Given the description of an element on the screen output the (x, y) to click on. 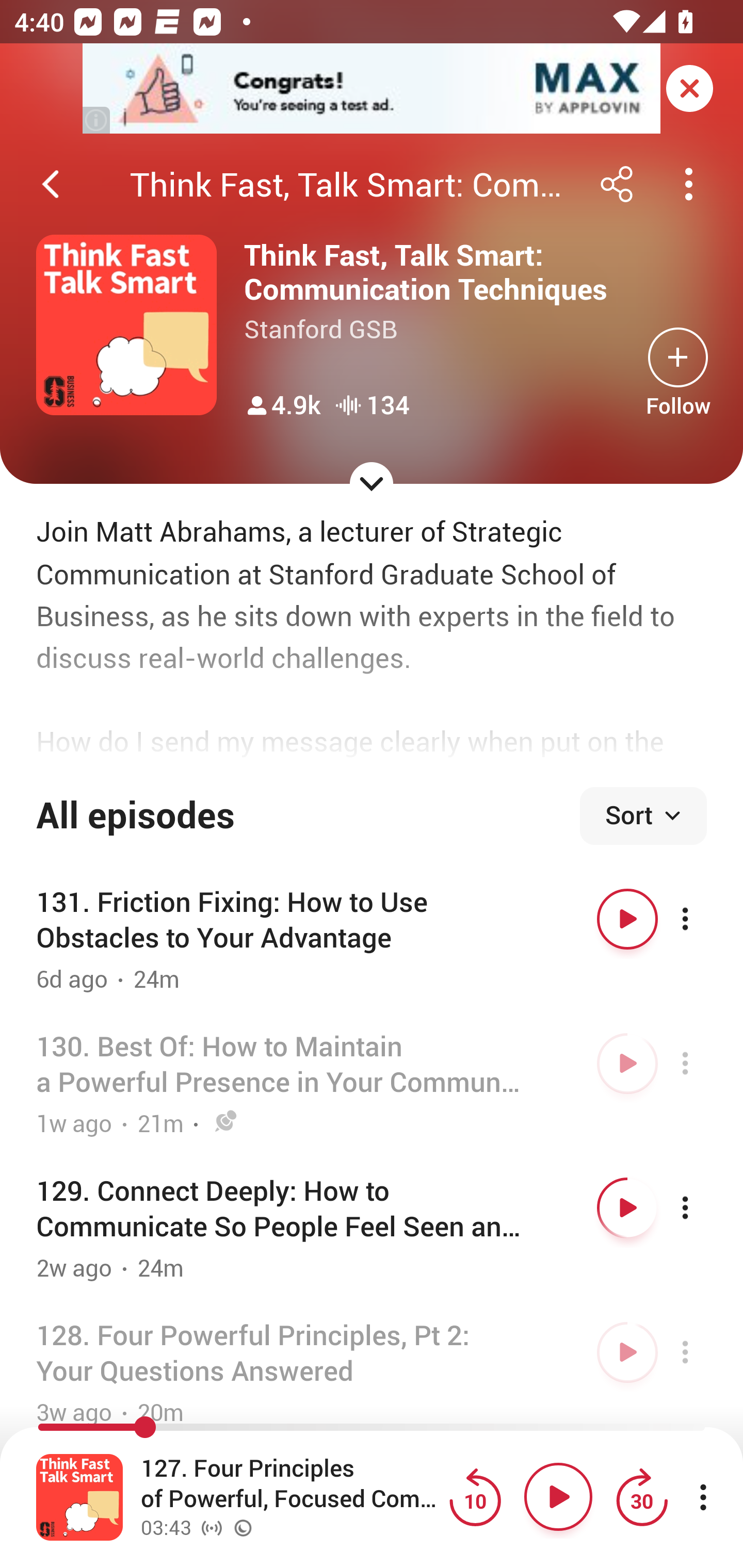
app-monetization (371, 88)
(i) (96, 119)
Back (50, 184)
Subscribe button (677, 357)
Sort episodes Sort (643, 816)
Play button (627, 919)
More options (703, 919)
Play button (627, 1063)
More options (703, 1063)
Play button (627, 1208)
More options (703, 1208)
Play button (627, 1352)
More options (703, 1352)
Open fullscreen player (79, 1497)
More player controls (703, 1497)
Play button (558, 1496)
Jump back (475, 1497)
Jump forward (641, 1497)
